Given the description of an element on the screen output the (x, y) to click on. 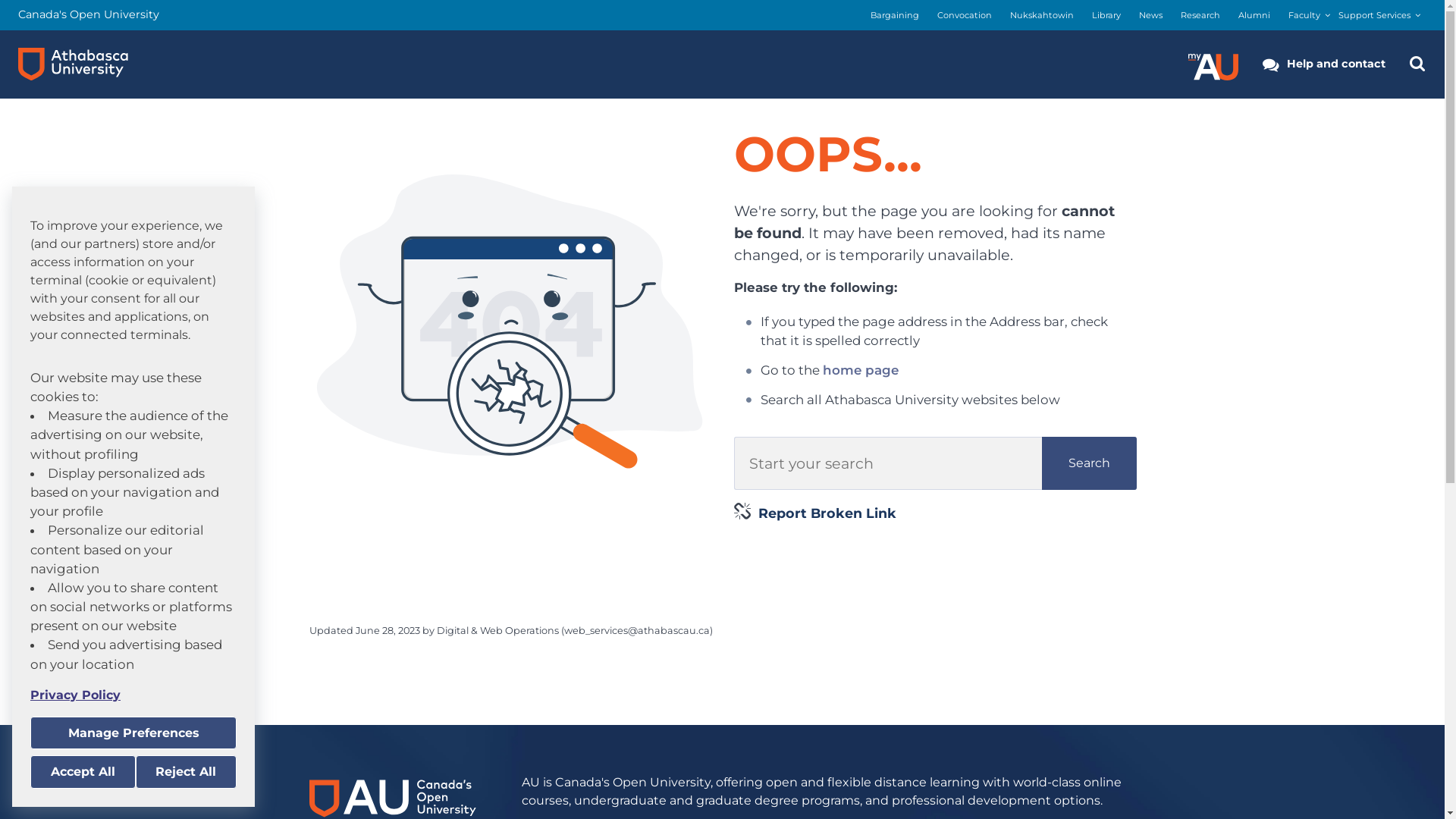
Support Services Element type: text (1374, 15)
Help and contact Element type: text (1323, 64)
Convocation Element type: text (964, 15)
home page Element type: text (860, 369)
Bargaining Element type: text (894, 15)
Nukskahtowin Element type: text (1041, 15)
Reject All Element type: text (185, 771)
Alumni Element type: text (1254, 15)
Search Element type: text (1088, 462)
Search the Athabasca University Website Element type: hover (1417, 64)
Skip to main content Element type: text (0, 0)
Research Element type: text (1200, 15)
News Element type: text (1150, 15)
Manage Preferences Element type: text (133, 732)
Library Element type: text (1106, 15)
Accept All Element type: text (82, 771)
Privacy Policy Element type: text (133, 695)
Athabasca University logo Element type: text (73, 64)
Faculty Element type: text (1304, 15)
